Given the description of an element on the screen output the (x, y) to click on. 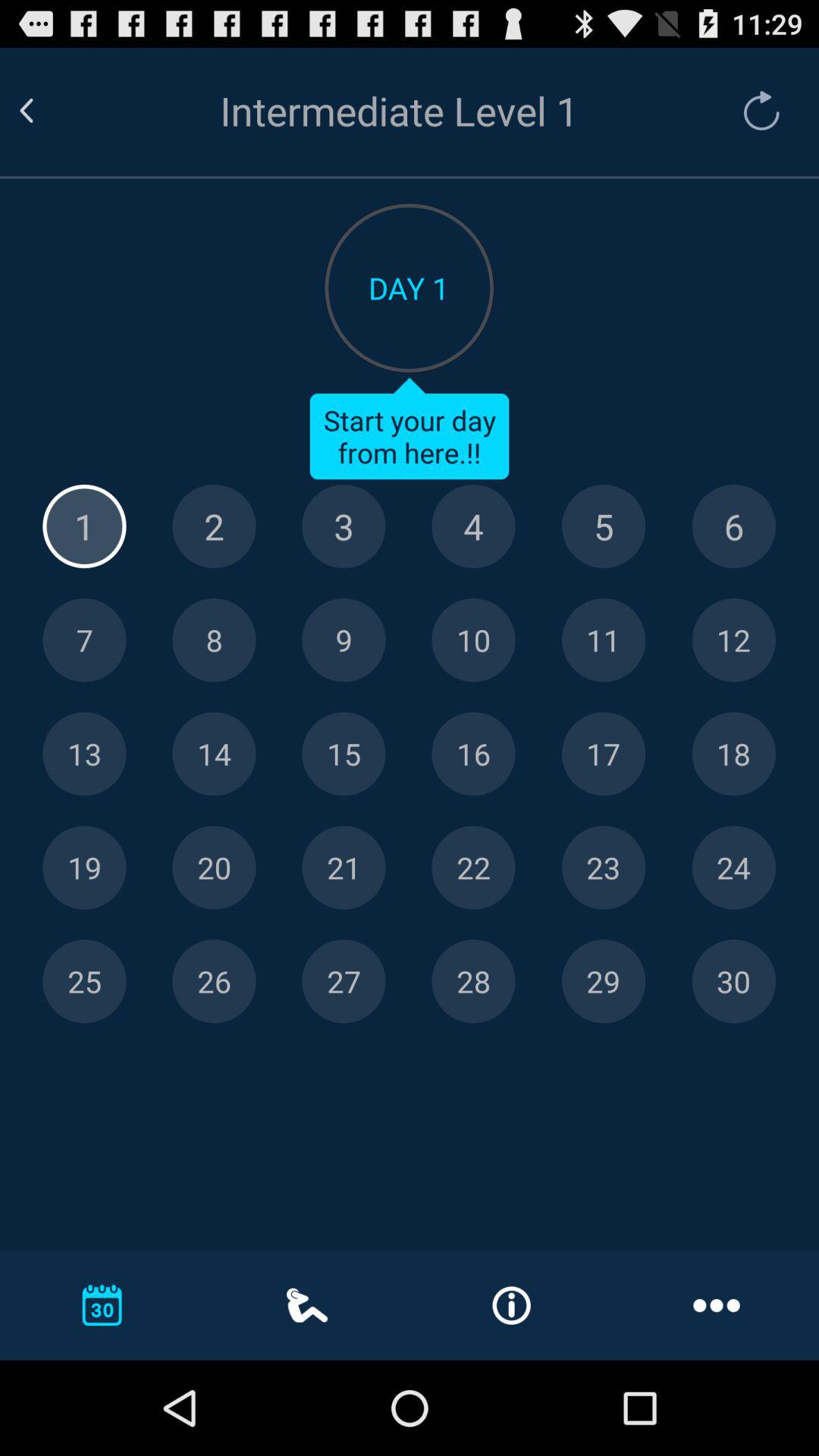
number 10 button (473, 639)
